Given the description of an element on the screen output the (x, y) to click on. 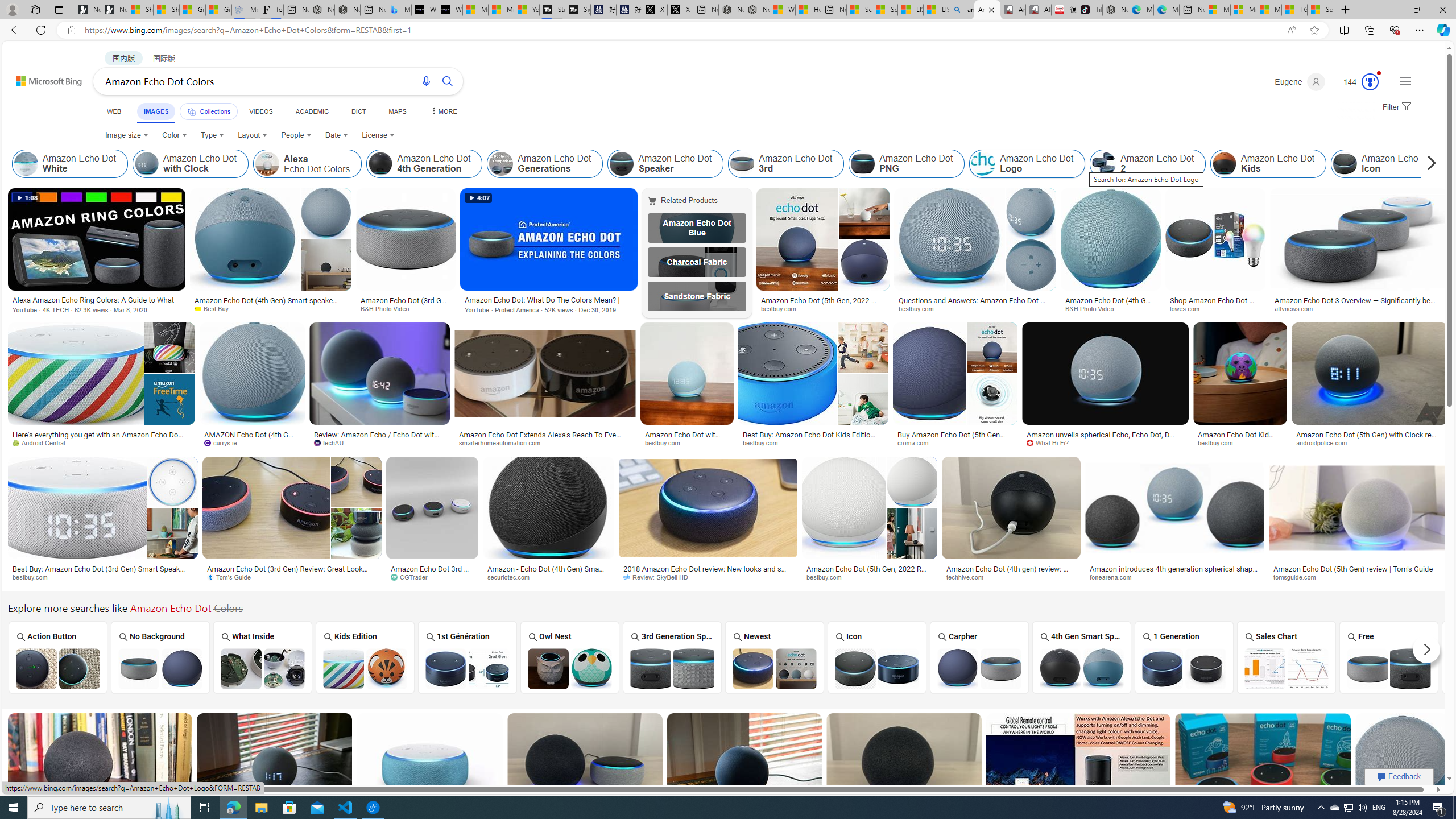
Shanghai, China weather forecast | Microsoft Weather (166, 9)
Amazon Echo Dot Generations (544, 163)
WEB (114, 111)
1:08 (26, 197)
People (295, 135)
DICT (357, 111)
Echo Dot Charcoal Fabric (696, 261)
bestbuy.com (869, 576)
Amazon Echo Dot Colors - Search Images (986, 9)
Review: SkyBell HD (659, 576)
